Given the description of an element on the screen output the (x, y) to click on. 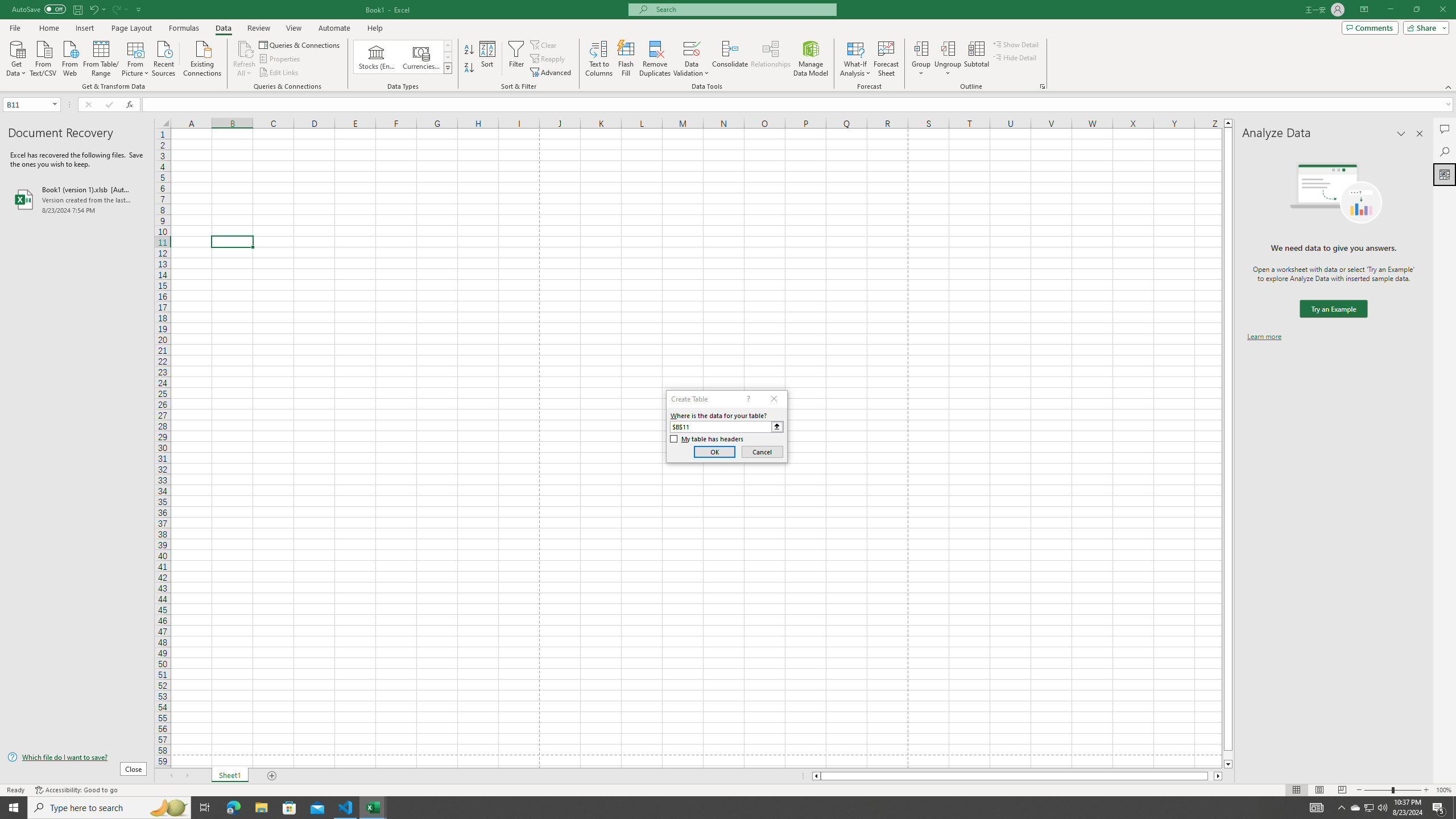
Properties (280, 58)
Get Data (16, 57)
Group and Outline Settings (1042, 85)
Hide Detail (1014, 56)
Data Types (448, 67)
Formula Bar (799, 104)
Relationships (770, 58)
